Given the description of an element on the screen output the (x, y) to click on. 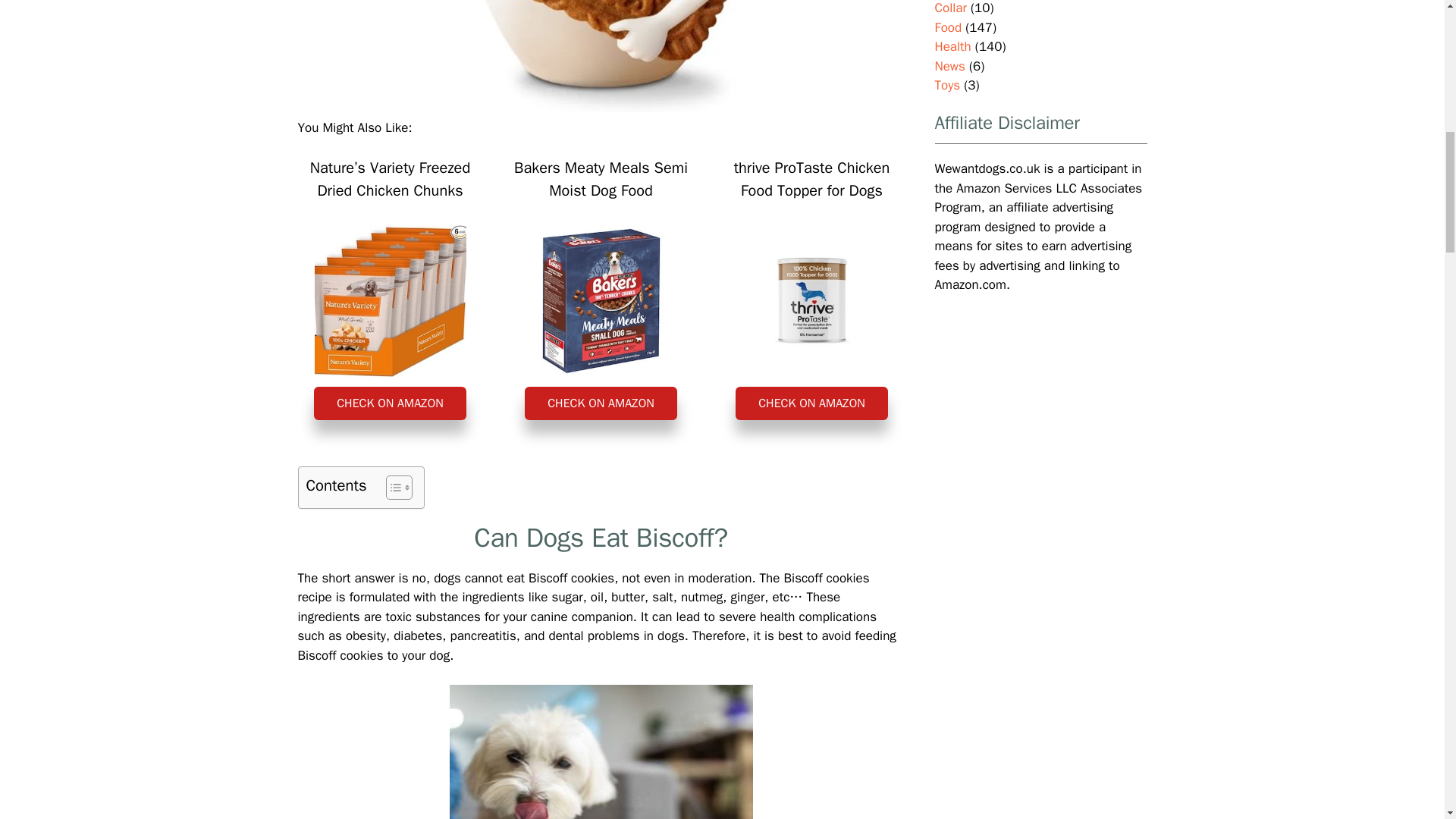
thrive ProTaste Chicken Food Topper for Dogs (810, 300)
CHECK ON AMAZON (390, 402)
CHECK ON AMAZON (811, 402)
CHECK ON AMAZON (601, 402)
Can Dogs Eat Biscoff (600, 56)
Bakers Meaty Meals Semi Moist Dog Food (600, 300)
Nature's Variety Freezed Dried Chicken Chunks (389, 300)
